Given the description of an element on the screen output the (x, y) to click on. 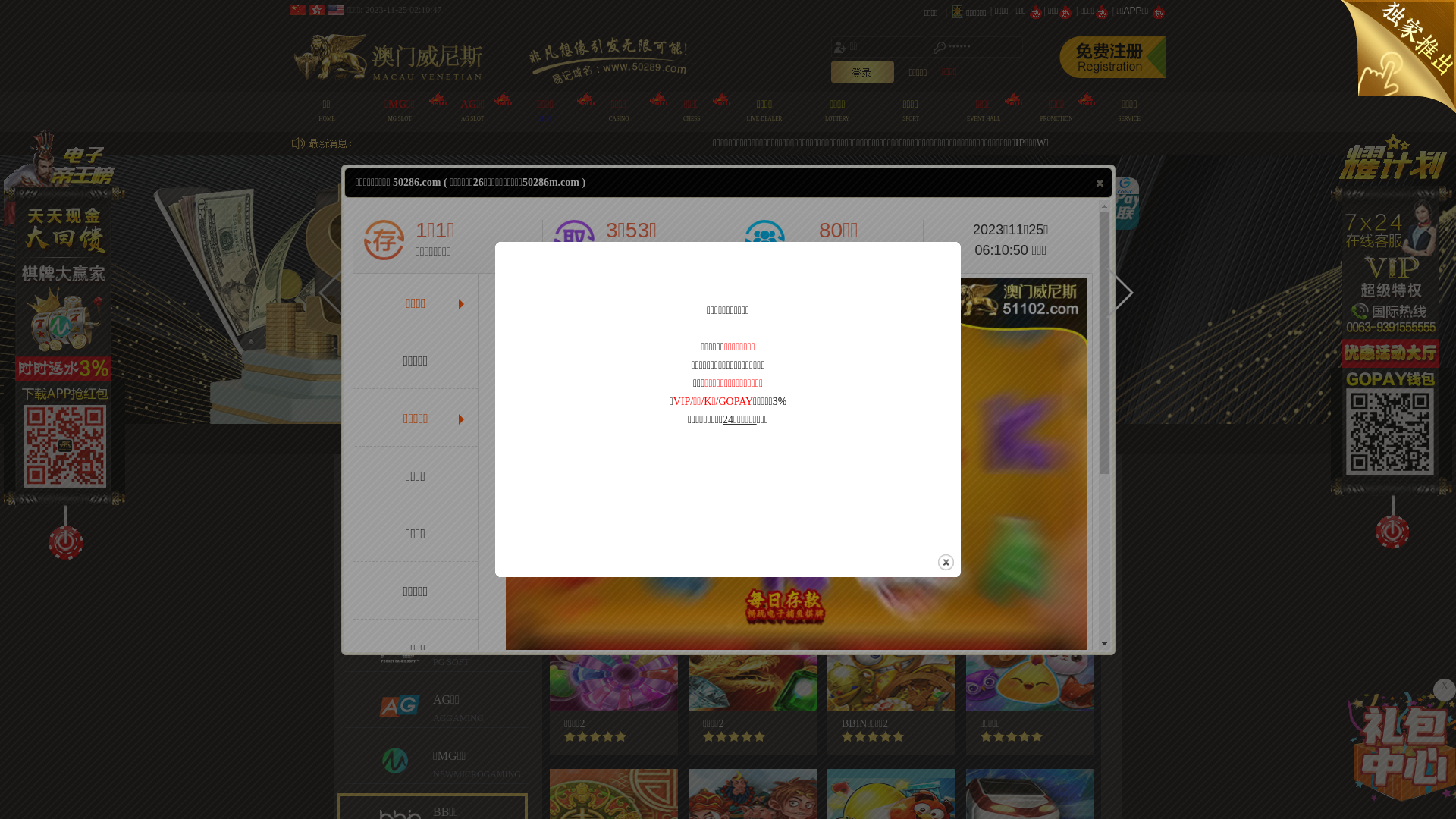
close Element type: text (945, 561)
close Element type: text (1099, 182)
